Given the description of an element on the screen output the (x, y) to click on. 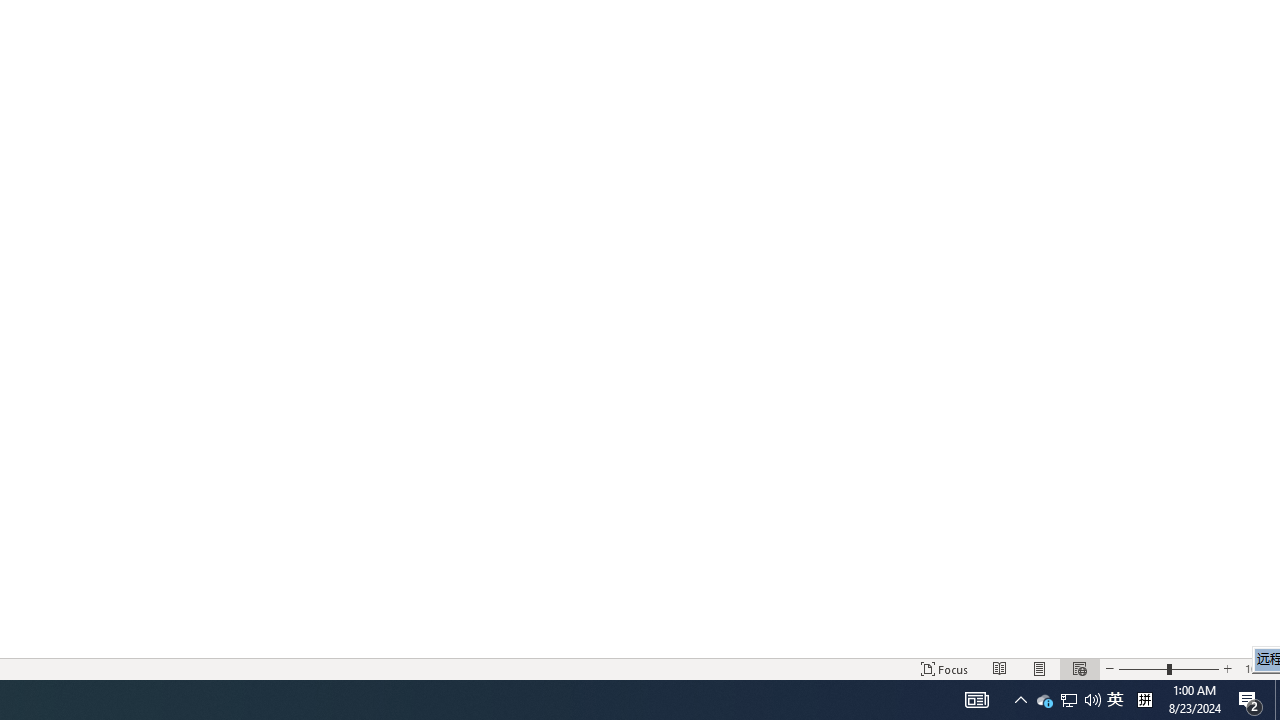
Tray Input Indicator - Chinese (Simplified, China) (1144, 699)
Zoom 100% (1258, 668)
